Given the description of an element on the screen output the (x, y) to click on. 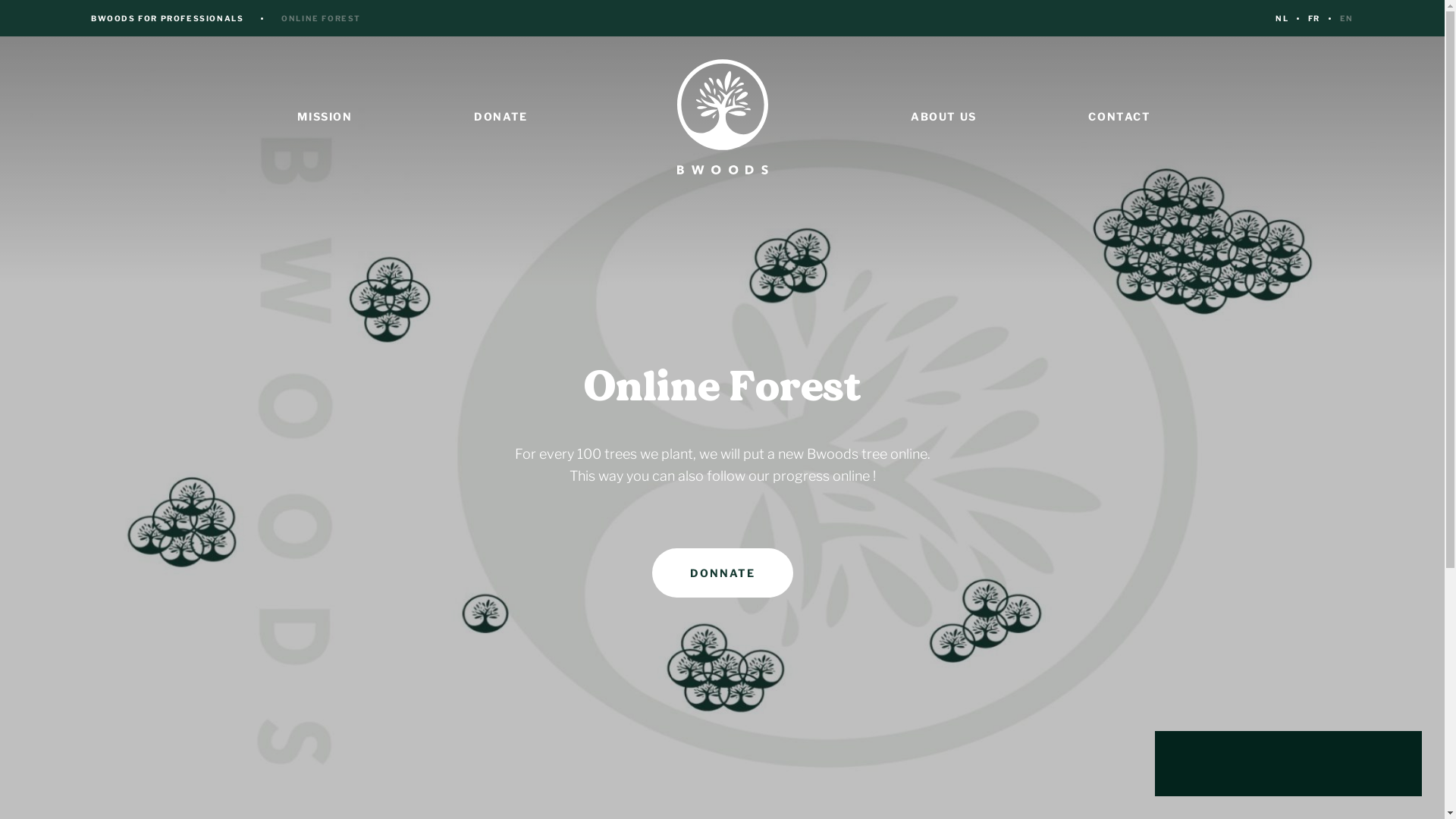
ONLINE FOREST Element type: text (321, 18)
BWOODS FOR PROFESSIONALS Element type: text (166, 18)
FR Element type: text (1314, 18)
MISSION Element type: text (324, 116)
CONTACT Element type: text (1119, 116)
NL Element type: text (1281, 18)
DONATE Element type: text (500, 116)
ABOUT US Element type: text (943, 116)
DONNATE Element type: text (722, 572)
Bwoods Element type: text (721, 116)
